Given the description of an element on the screen output the (x, y) to click on. 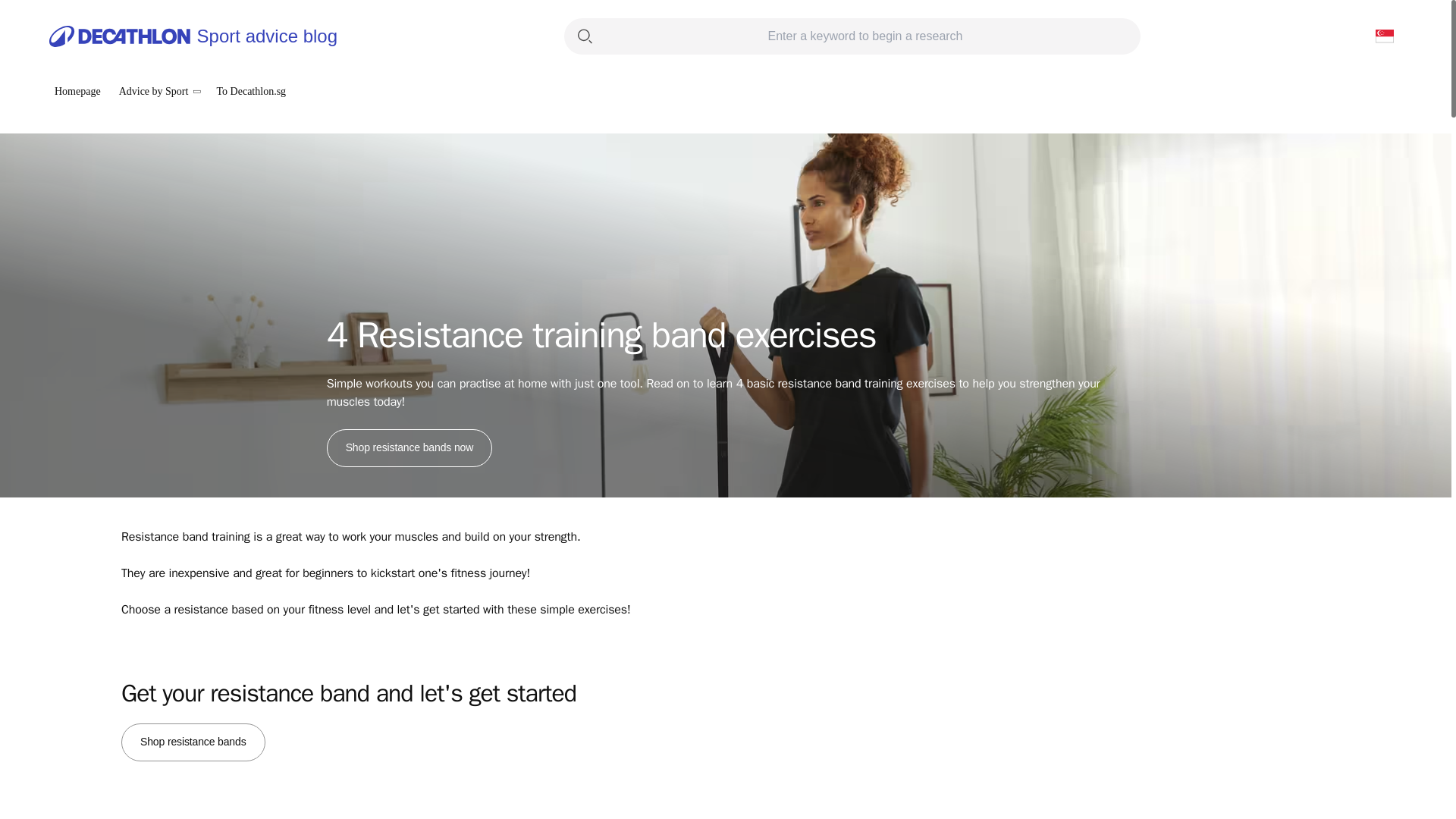
To Decathlon.sg (251, 91)
Sport advice blog (192, 35)
Homepage (77, 91)
Advice by Sport (158, 91)
Shop resistance bands (192, 742)
Shop resistance bands now (409, 447)
